Given the description of an element on the screen output the (x, y) to click on. 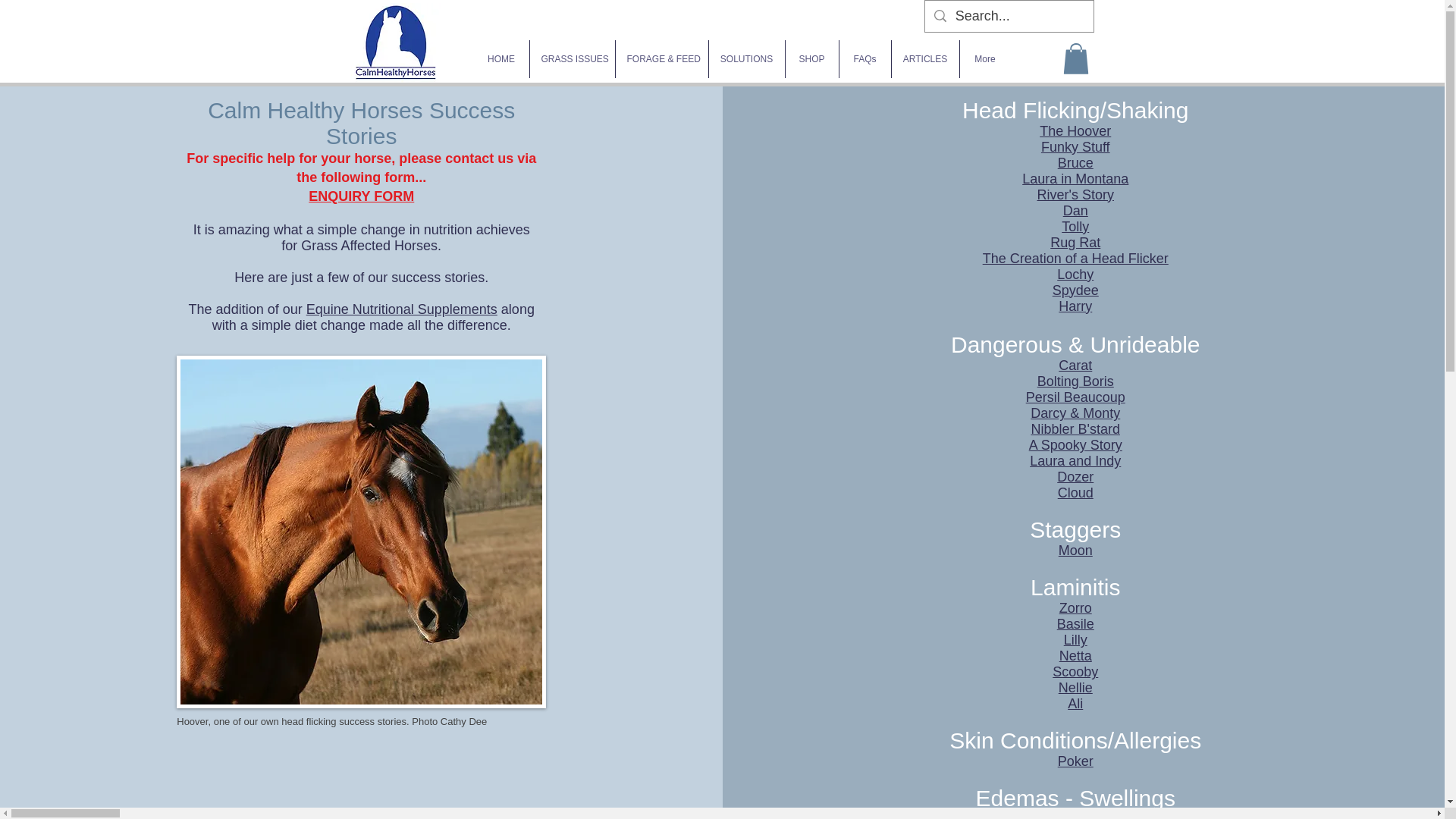
GRASS ISSUES (571, 58)
HOME (500, 58)
SOLUTIONS (745, 58)
